Given the description of an element on the screen output the (x, y) to click on. 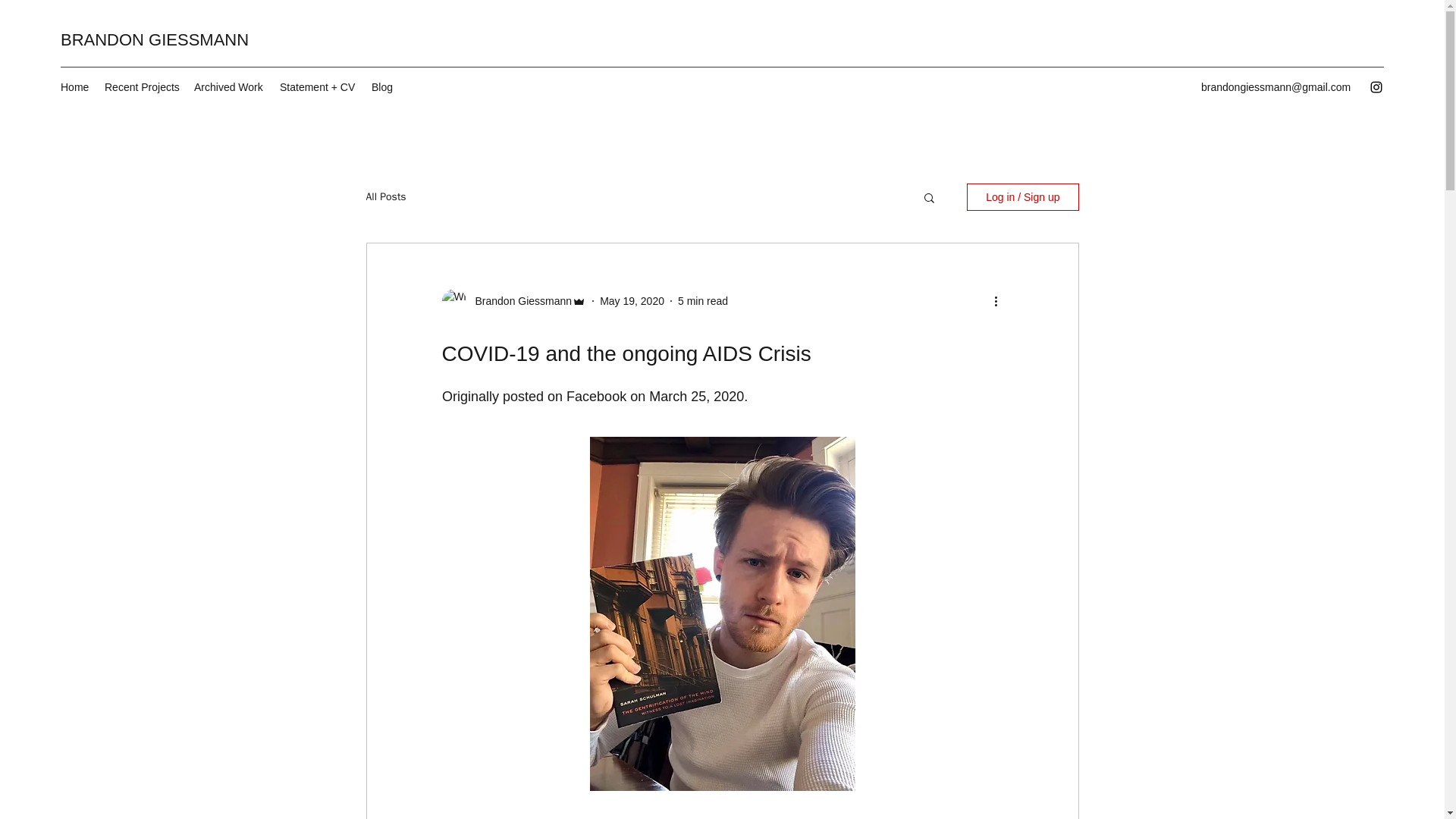
May 19, 2020 (631, 300)
Recent Projects (141, 87)
Home (74, 87)
Blog (382, 87)
Archived Work (229, 87)
All Posts (385, 196)
BRANDON GIESSMANN (154, 39)
Brandon Giessmann (518, 301)
5 min read (703, 300)
